Given the description of an element on the screen output the (x, y) to click on. 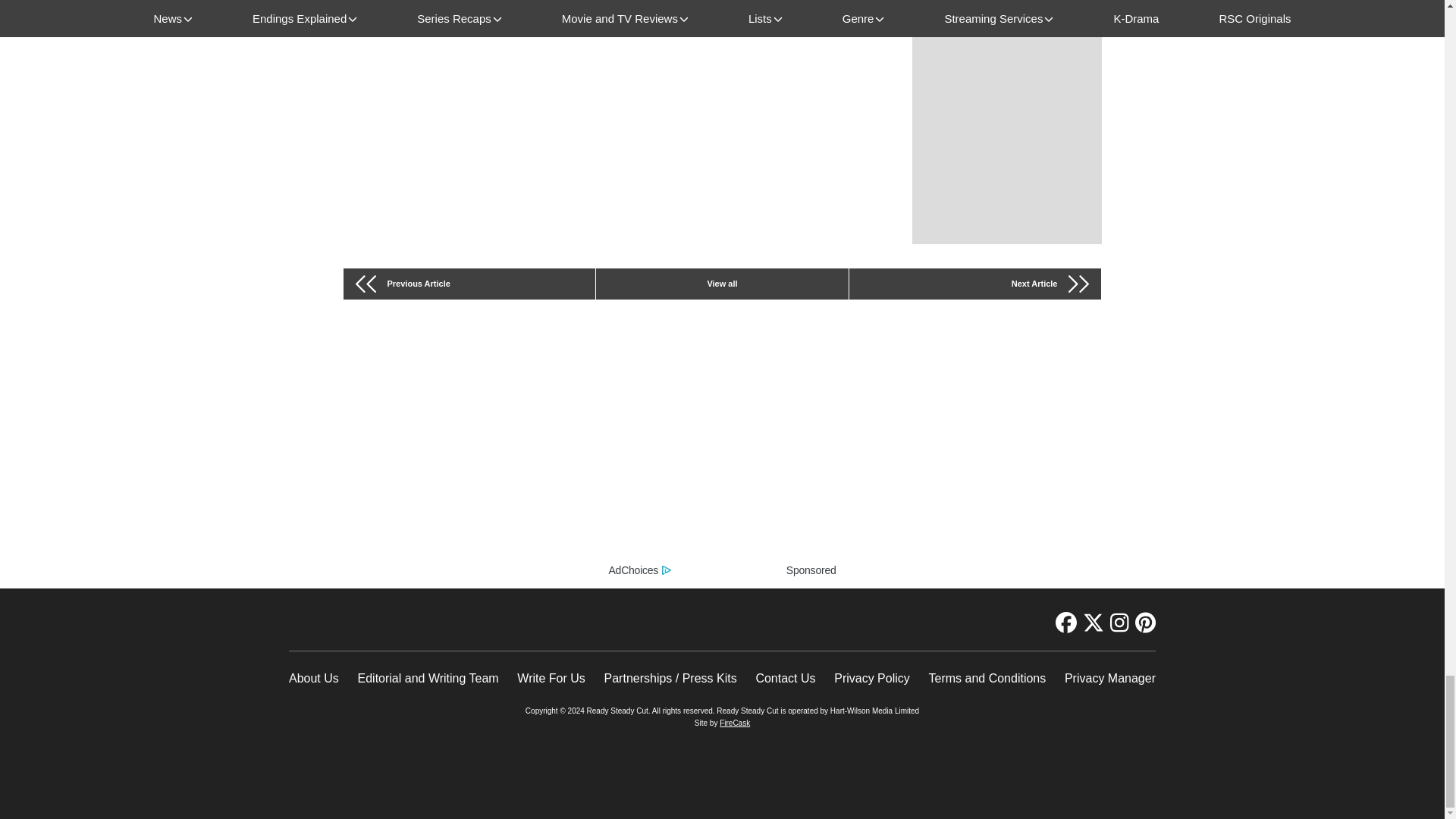
ad content (721, 454)
